Given the description of an element on the screen output the (x, y) to click on. 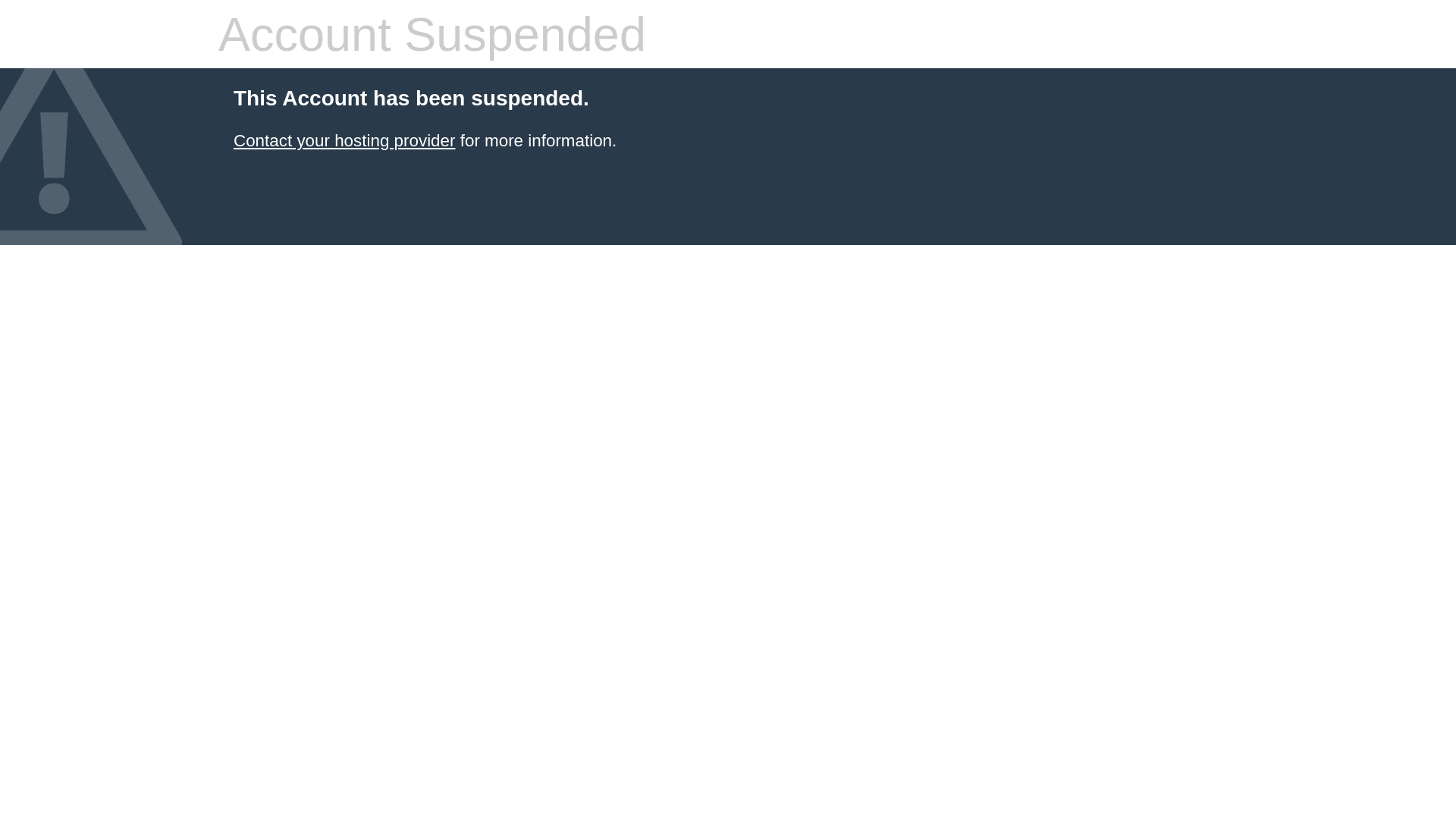
Contact your hosting provider Element type: text (344, 140)
